Given the description of an element on the screen output the (x, y) to click on. 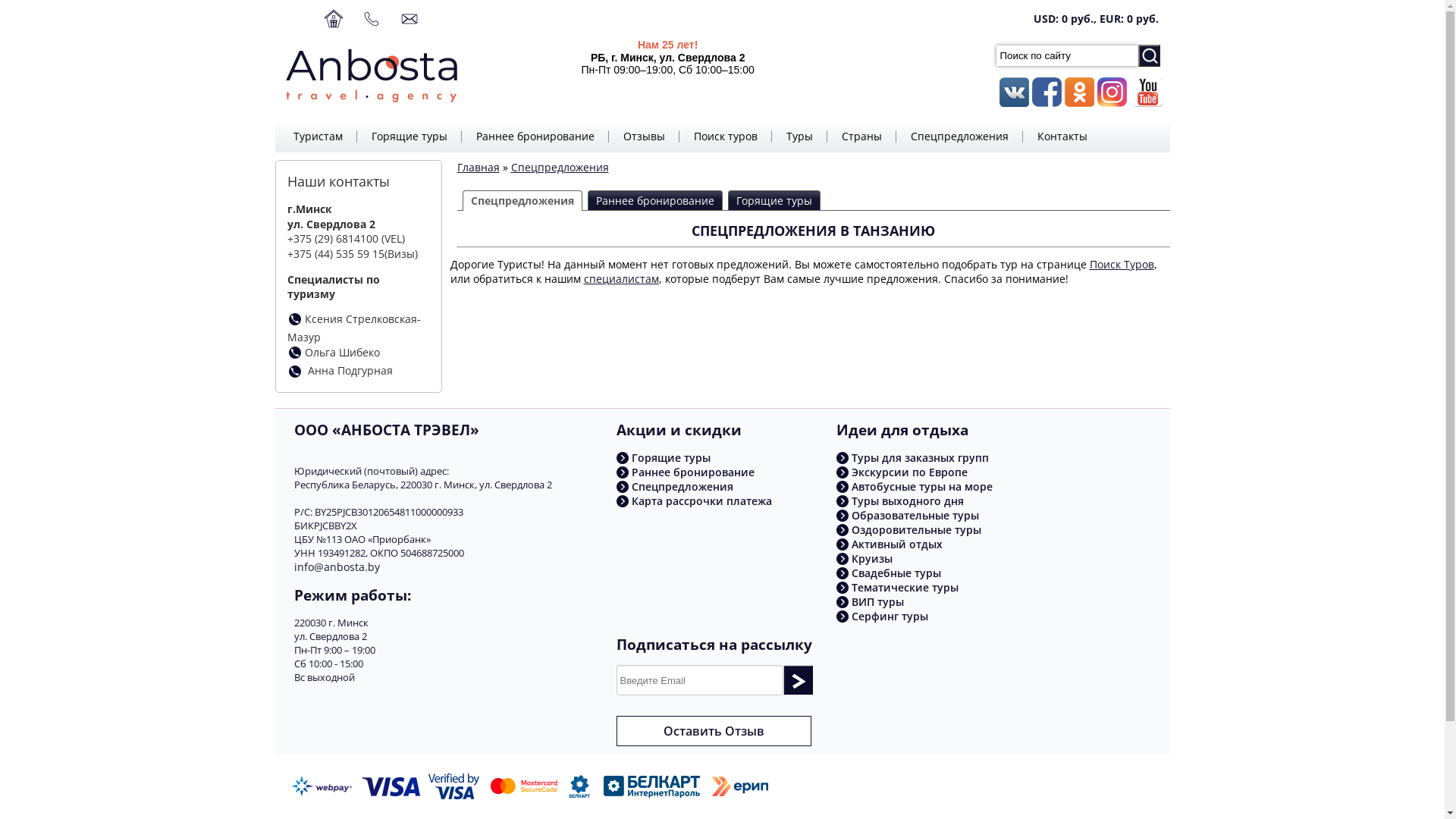
+375 (29) 6814100 Element type: text (331, 238)
Tel Element type: hover (293, 373)
Tel Element type: hover (293, 321)
info@anbosta.by Element type: text (336, 566)
 Tel  Element type: hover (293, 371)
+375 (44) 535 59 15 Element type: text (334, 253)
 Tel  Element type: hover (293, 319)
 Tel  Element type: hover (293, 352)
